Given the description of an element on the screen output the (x, y) to click on. 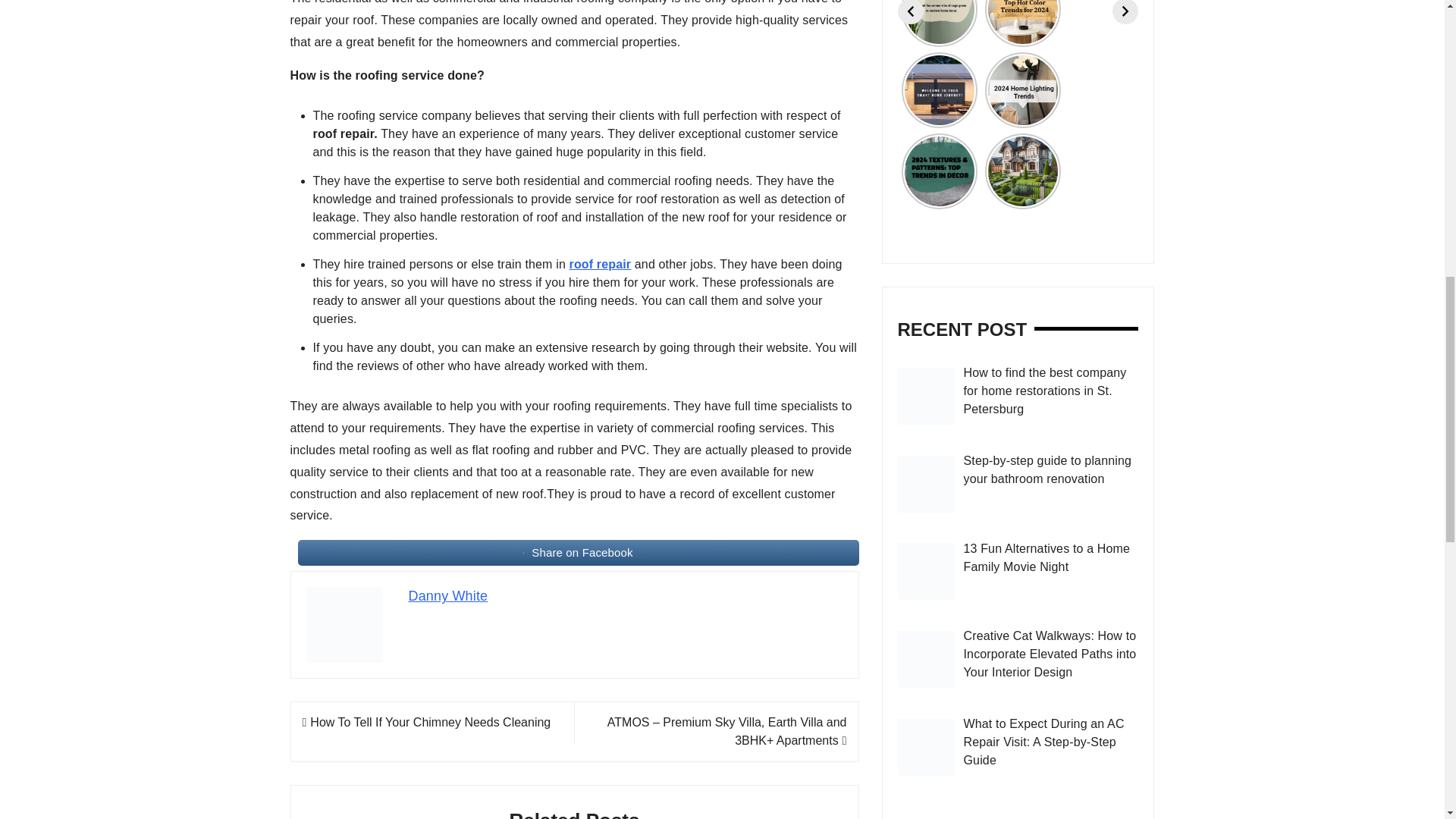
How To Tell If Your Chimney Needs Cleaning (425, 721)
roof repair (600, 264)
Share on Facebook (578, 552)
Danny White (447, 595)
